Given the description of an element on the screen output the (x, y) to click on. 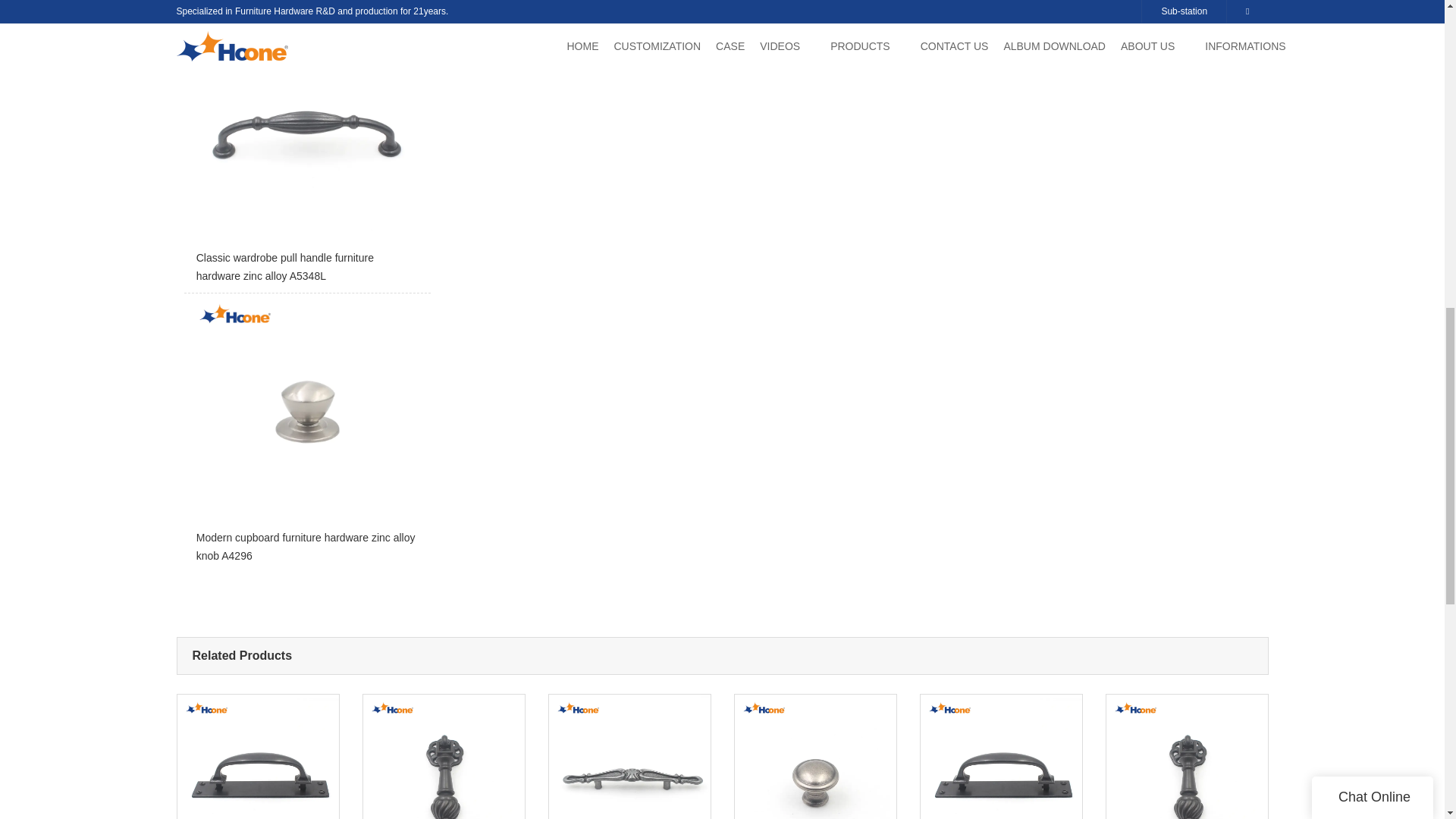
Modern cupboard furniture hardware zinc alloy knob A4296 (306, 436)
Hollow knob furniture hardware zinc alloy A6190 (814, 756)
